Given the description of an element on the screen output the (x, y) to click on. 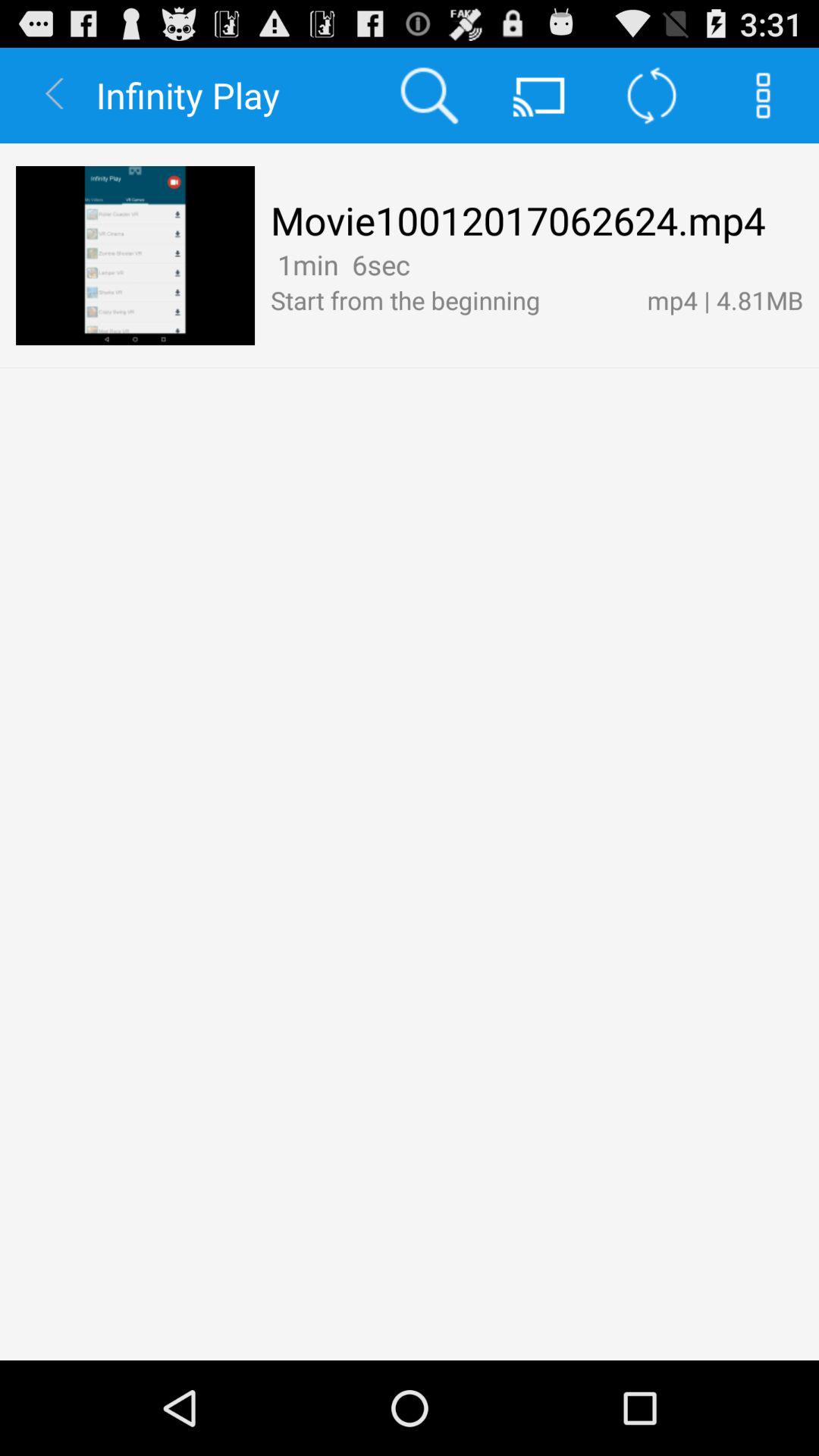
turn off the icon below the movie10012017062624.mp4 app (340, 264)
